Given the description of an element on the screen output the (x, y) to click on. 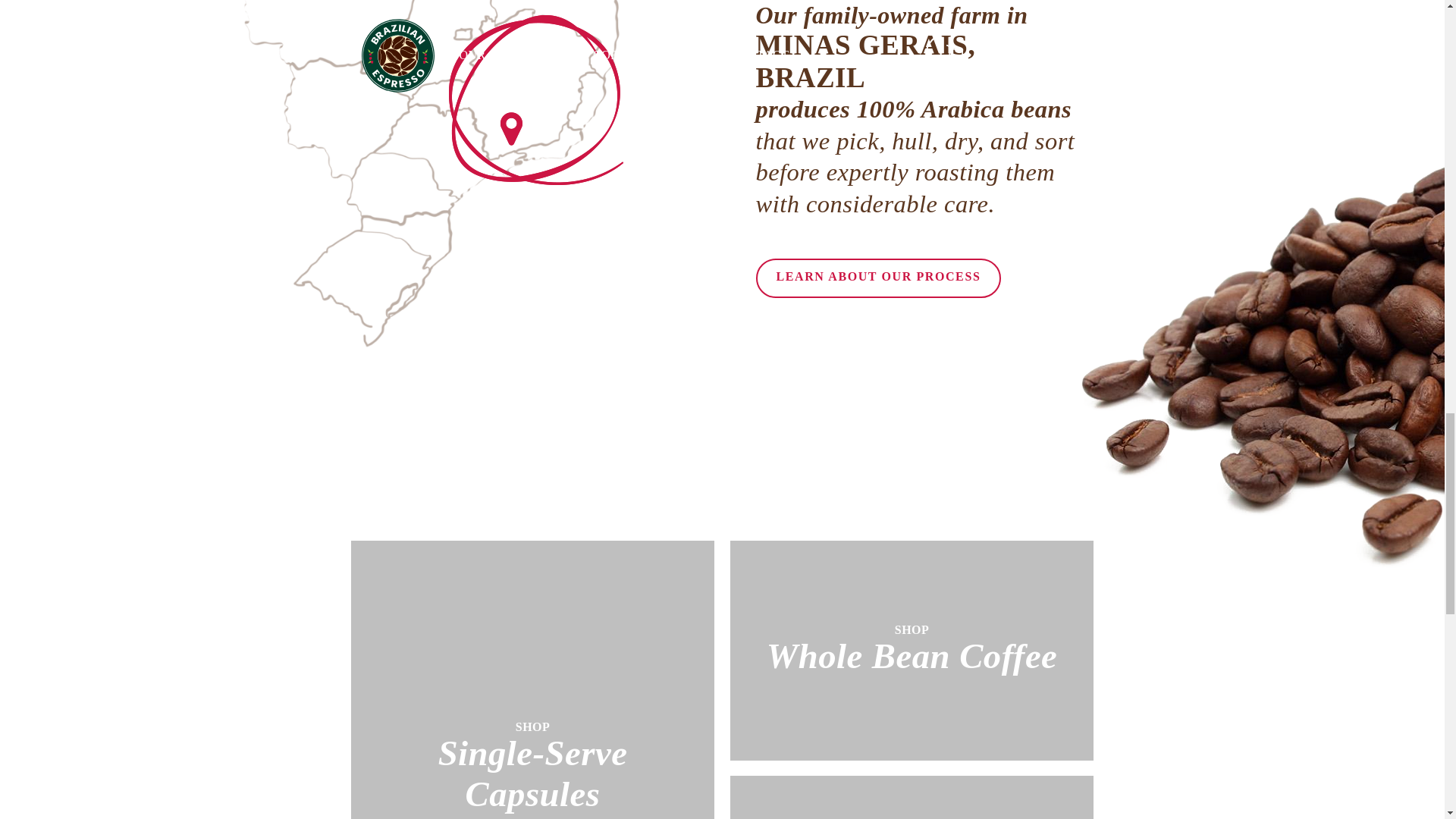
LEARN ABOUT OUR PROCESS (878, 278)
